Given the description of an element on the screen output the (x, y) to click on. 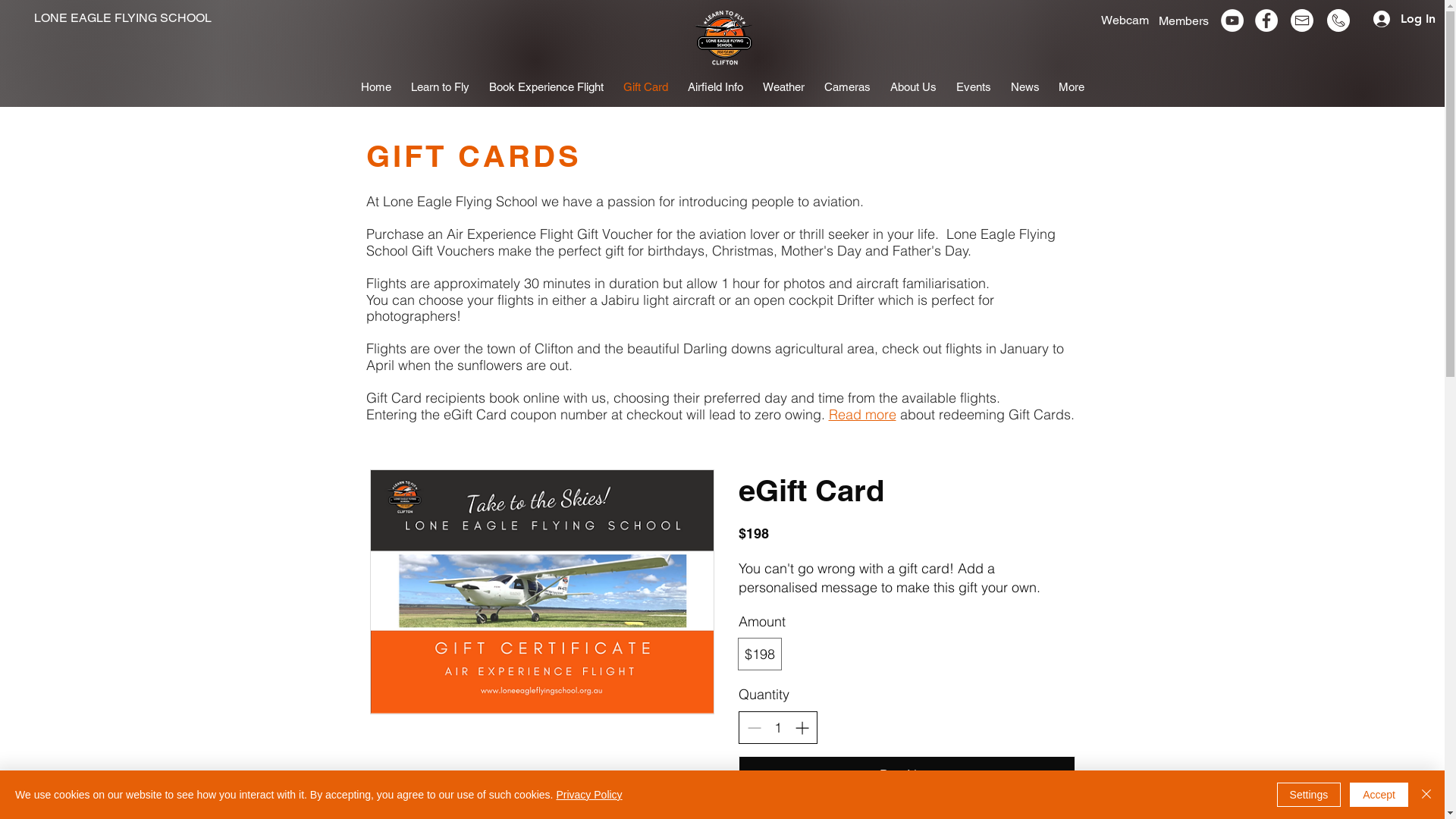
News Element type: text (1025, 86)
Settings Element type: text (1309, 794)
Gift Card Element type: text (644, 86)
Cameras Element type: text (847, 86)
Privacy Policy Element type: text (588, 794)
Webcam Element type: text (1124, 19)
Buy Now Element type: text (906, 774)
Members Element type: text (1183, 20)
Read more Element type: text (861, 414)
Home Element type: text (375, 86)
Events Element type: text (973, 86)
LONE EAGLE FLYING SCHOOL Element type: text (122, 17)
Accept Element type: text (1378, 794)
Airfield Info Element type: text (715, 86)
Log In Element type: text (1375, 18)
Weather Element type: text (782, 86)
Learn to Fly Element type: text (439, 86)
About Us Element type: text (912, 86)
Book Experience Flight Element type: text (546, 86)
